Given the description of an element on the screen output the (x, y) to click on. 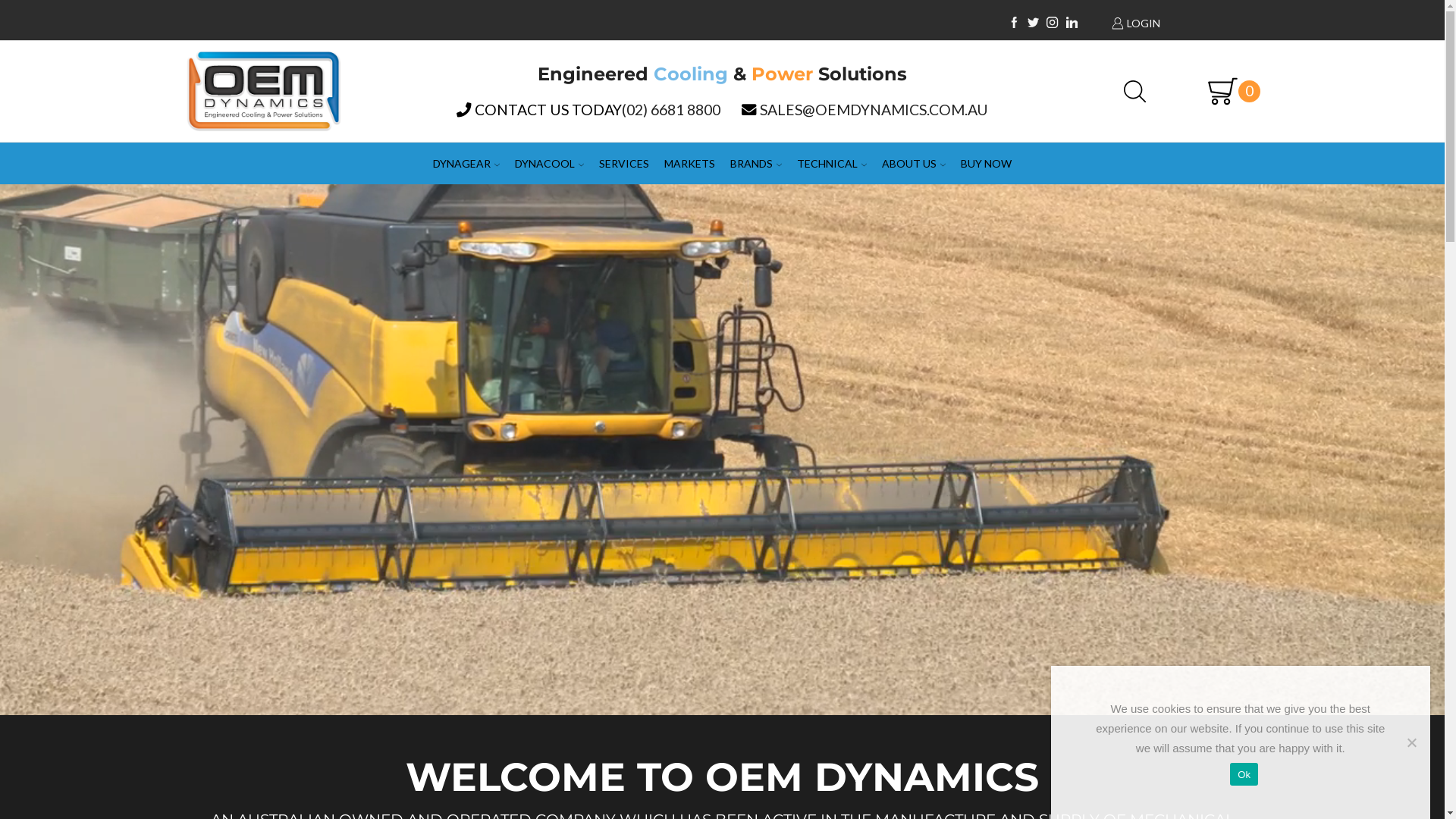
BUY NOW Element type: text (986, 163)
Linkedin Element type: hover (1071, 22)
SERVICES Element type: text (623, 163)
LOGIN Element type: text (1180, 23)
BRANDS Element type: text (755, 163)
MARKETS Element type: text (689, 163)
DYNAGEAR Element type: text (466, 163)
SALES@OEMDYNAMICS.COM.AU Element type: text (873, 109)
ABOUT US Element type: text (913, 163)
DYNACOOL Element type: text (549, 163)
Instagram Element type: hover (1051, 22)
(02) 6681 8800 Element type: text (670, 109)
No Element type: hover (1410, 741)
Facebook Element type: hover (1013, 22)
0 Element type: text (1226, 91)
Ok Element type: text (1244, 773)
TECHNICAL Element type: text (831, 163)
Twitter Element type: hover (1032, 22)
Log in Element type: text (1149, 313)
